Given the description of an element on the screen output the (x, y) to click on. 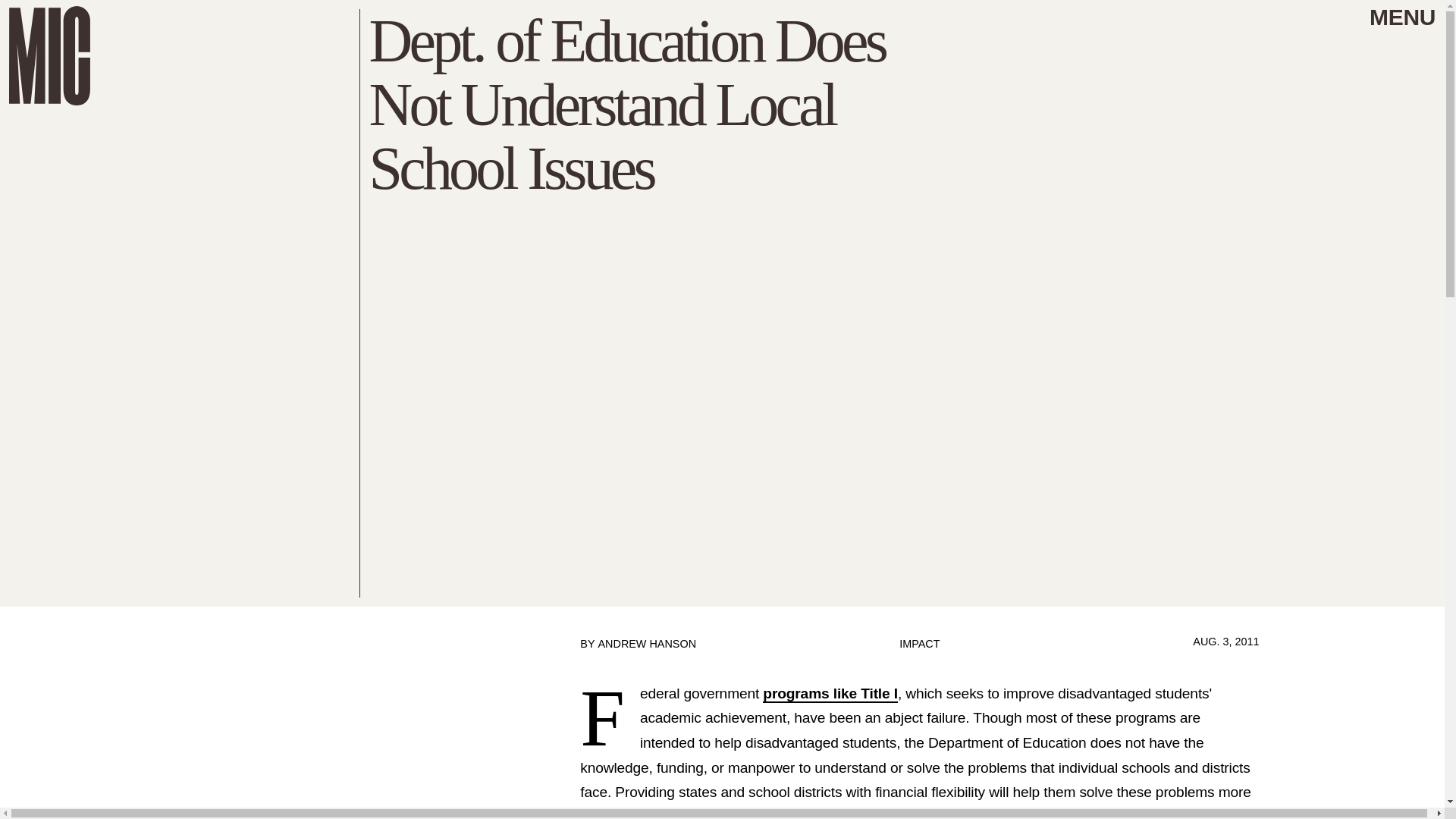
programs like Title I (830, 693)
ANDREW HANSON (645, 644)
